Given the description of an element on the screen output the (x, y) to click on. 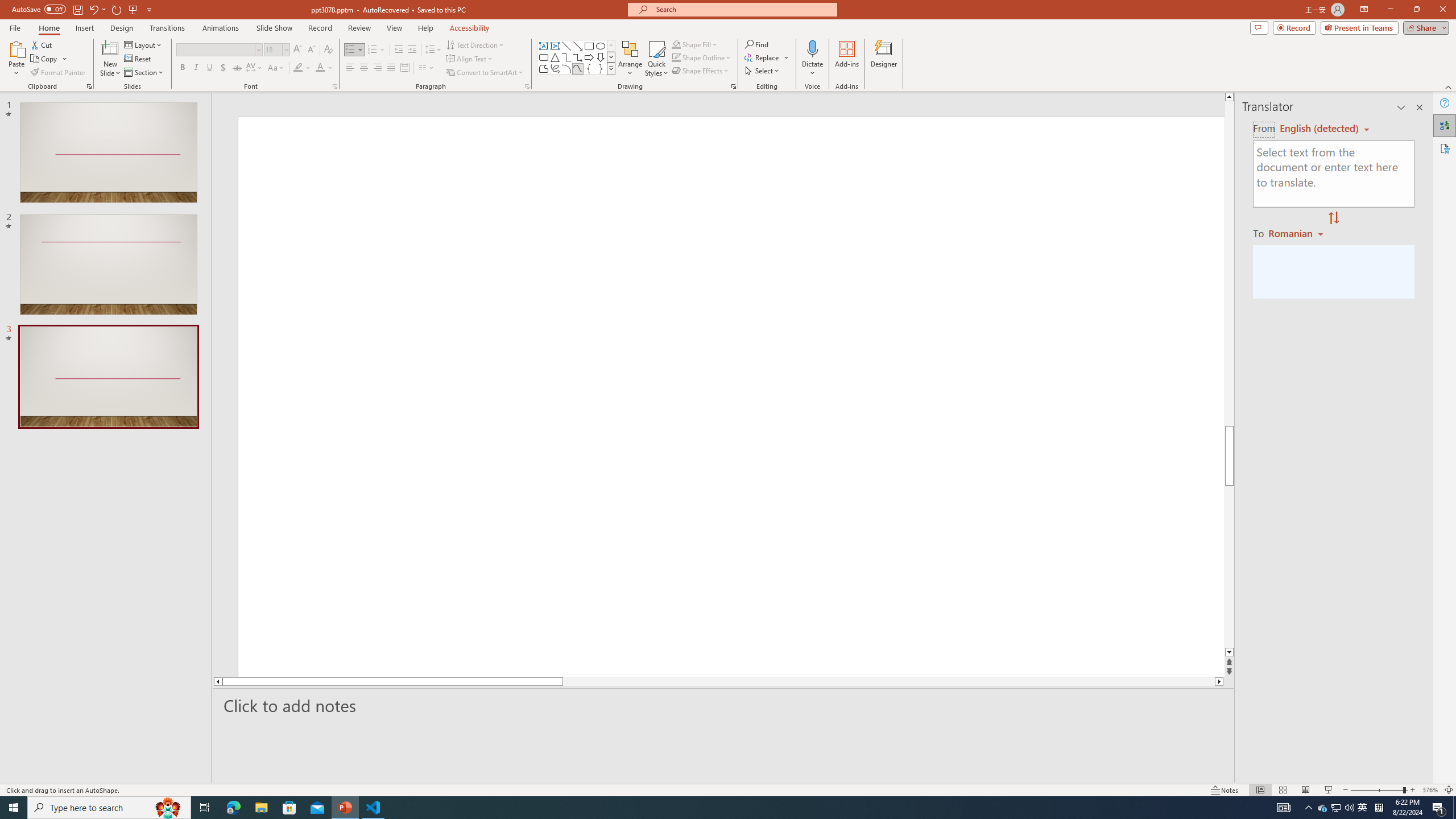
Zoom 376% (1430, 790)
